Given the description of an element on the screen output the (x, y) to click on. 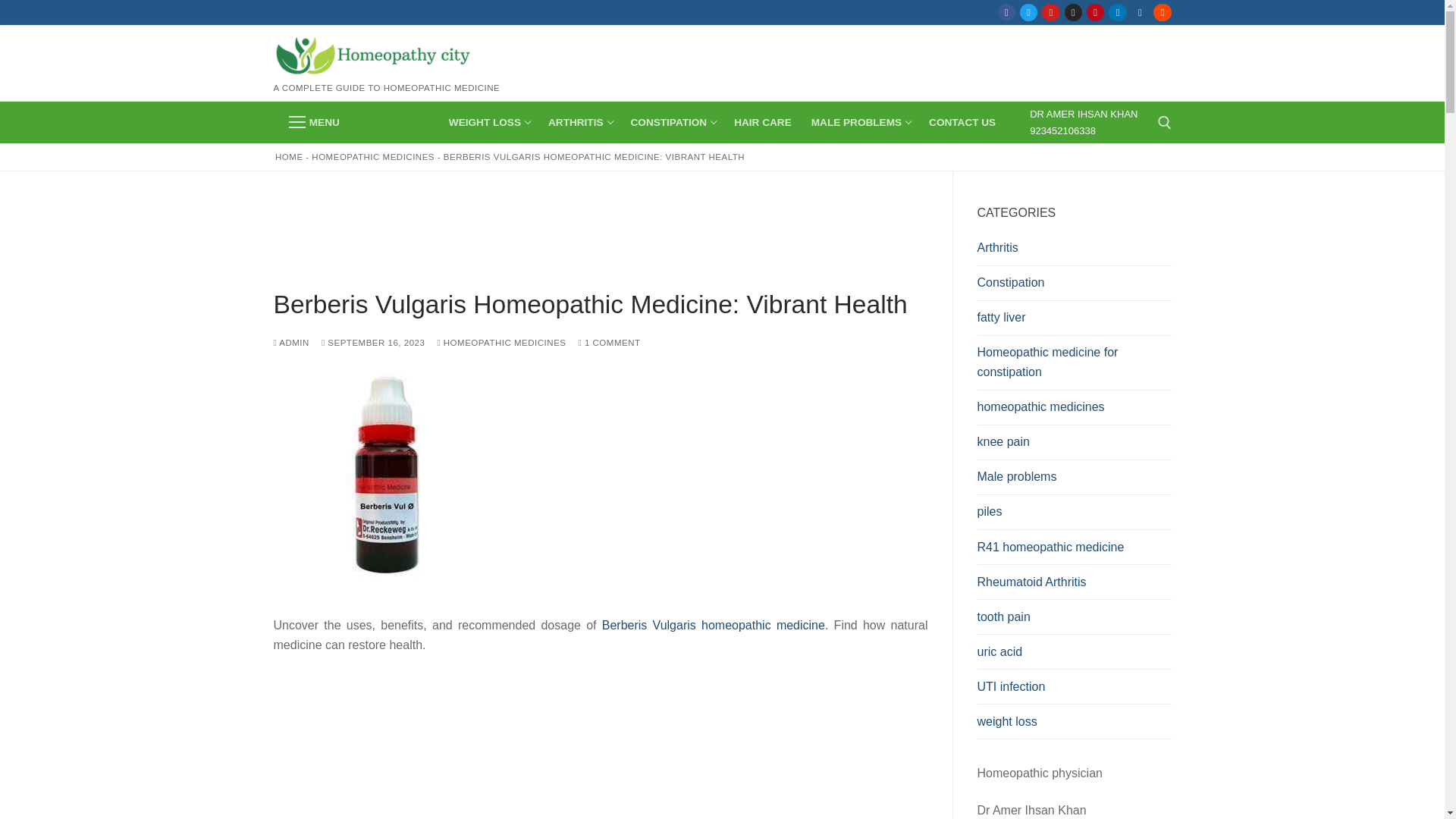
Linkedin (1117, 12)
Quora (1139, 12)
HOMEOPATHIC MEDICINES (372, 156)
MENU (671, 122)
Pinterest (314, 122)
Advertisement (1095, 12)
CONTACT US (600, 745)
ADMIN (962, 122)
